Given the description of an element on the screen output the (x, y) to click on. 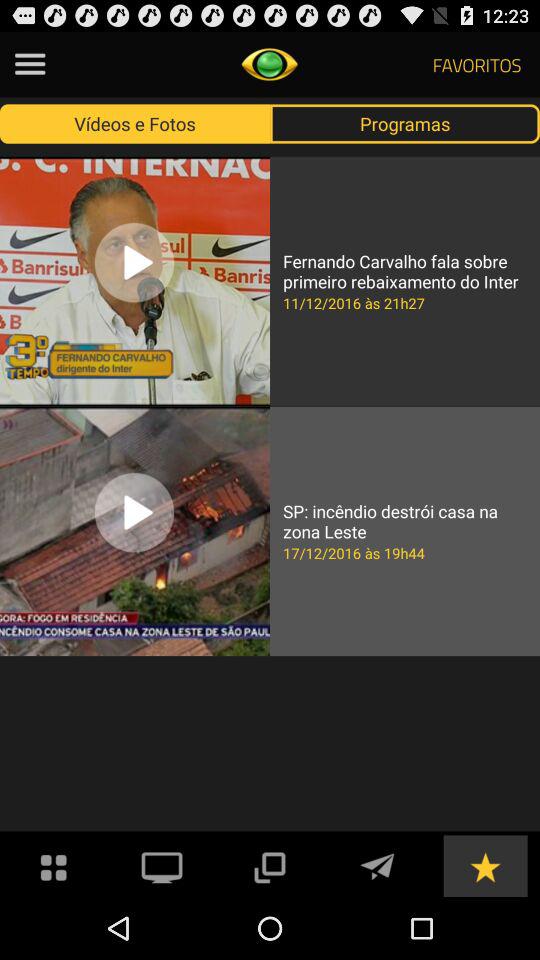
send messages (377, 865)
